Given the description of an element on the screen output the (x, y) to click on. 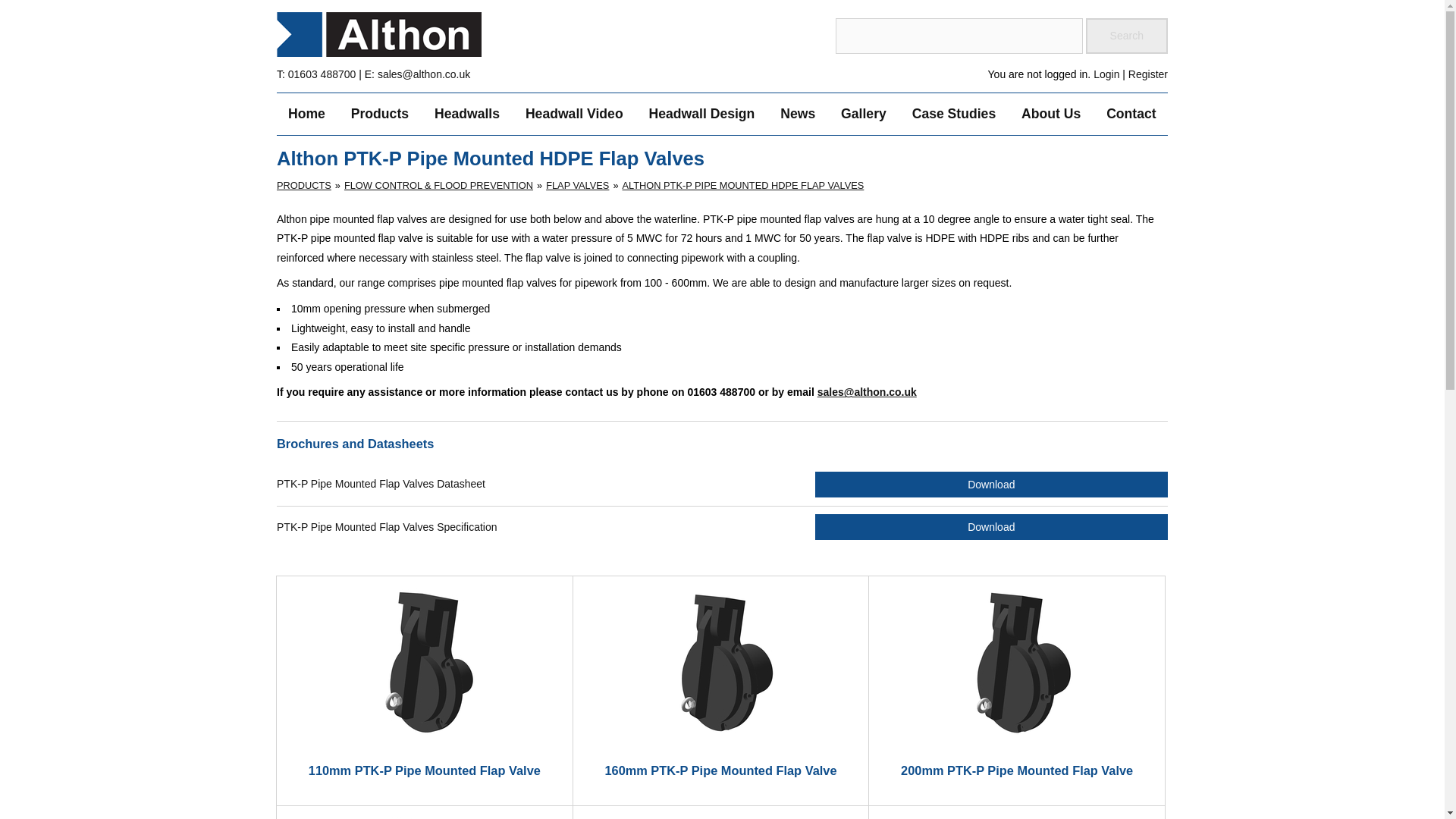
Home (306, 114)
Home (306, 114)
Search (1126, 36)
Products (379, 114)
Login (1106, 73)
Search (1126, 36)
01603 488700 (322, 73)
Register (1147, 73)
